Given the description of an element on the screen output the (x, y) to click on. 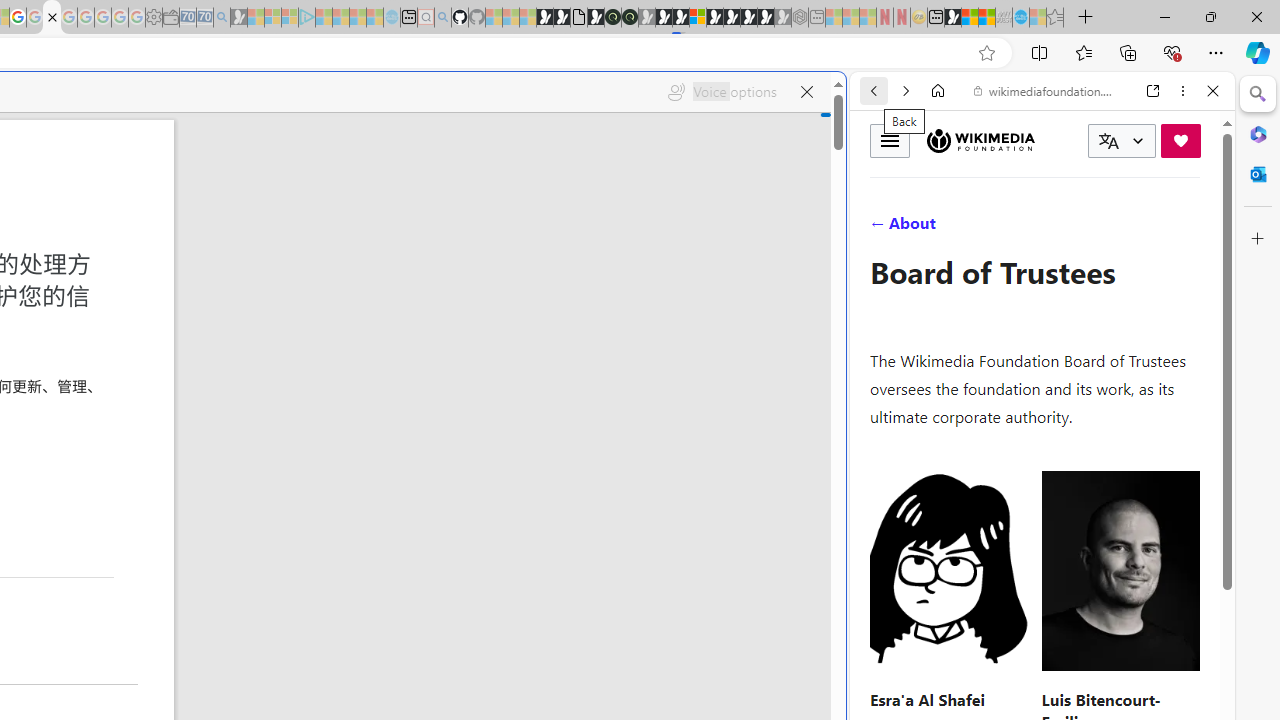
Earth has six continents not seven, radical new study claims (986, 17)
Wikimedia Foundation (980, 141)
